Given the description of an element on the screen output the (x, y) to click on. 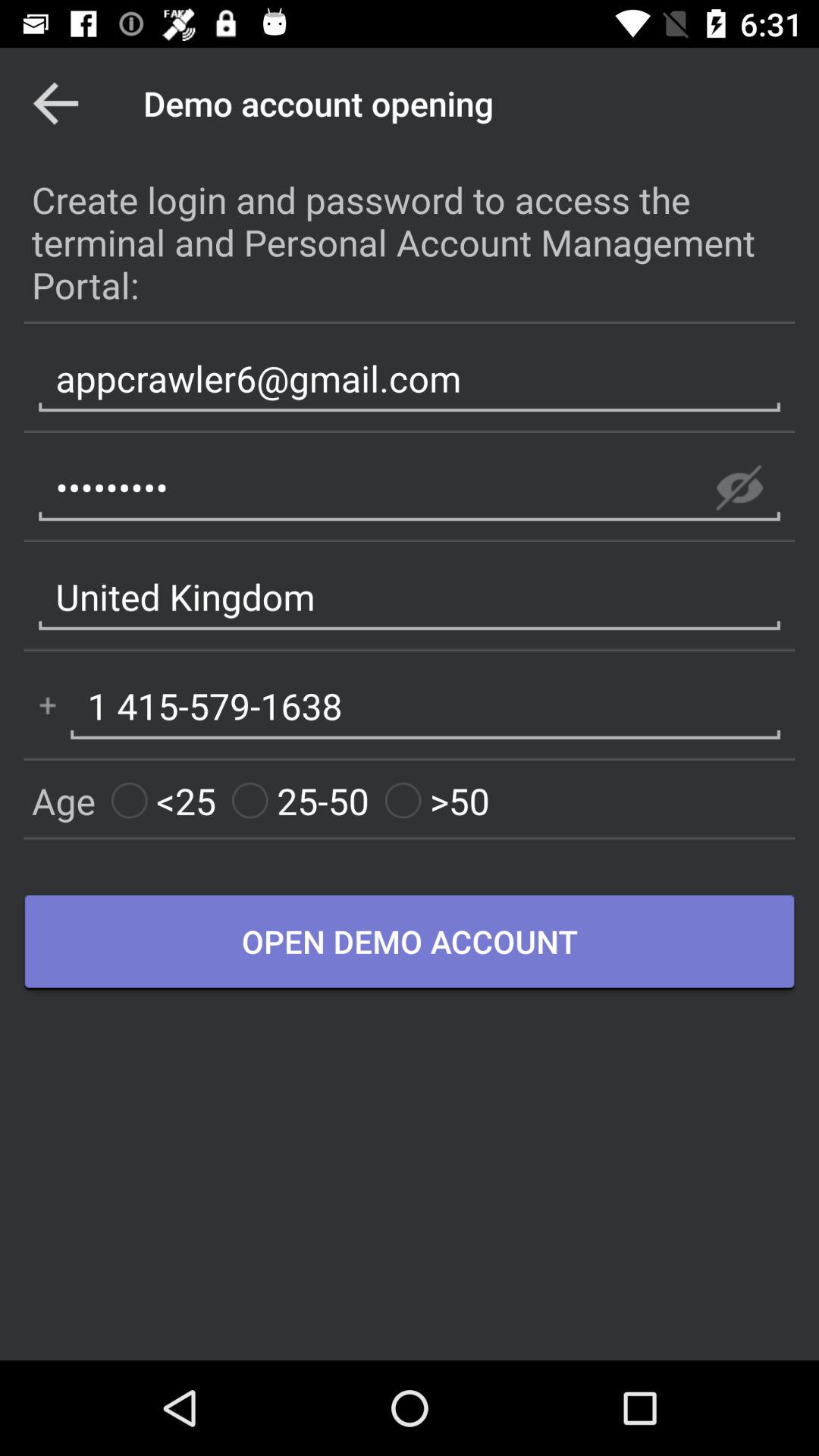
launch the item to the right of <25 item (300, 800)
